Given the description of an element on the screen output the (x, y) to click on. 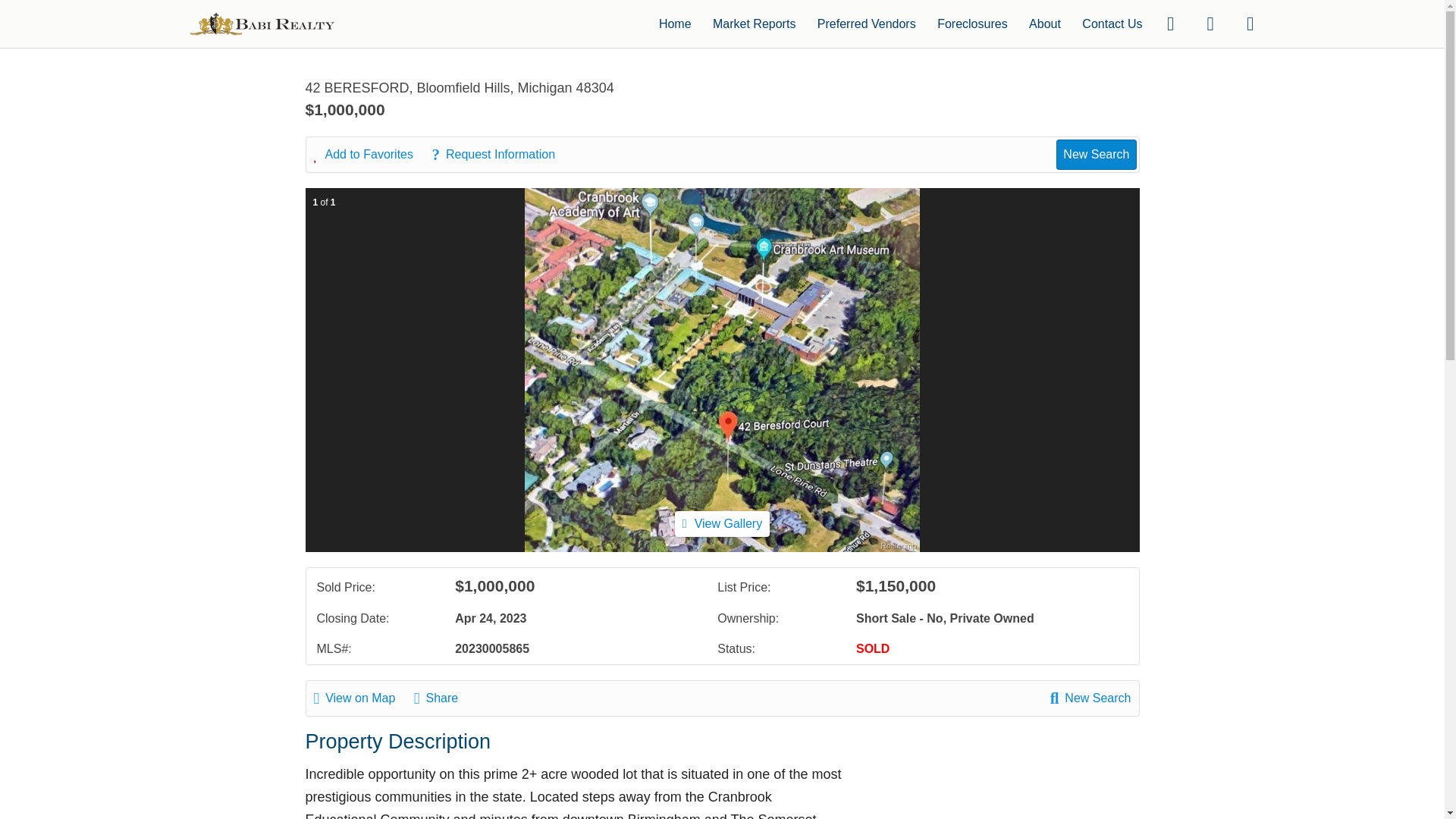
View Gallery (722, 524)
Foreclosures (972, 23)
Contact by Phone (1209, 22)
Home (675, 23)
New Search (1096, 154)
View on Map (362, 698)
Open contact form (1170, 22)
Share (443, 698)
New Search (1090, 698)
Preferred Vendors (865, 23)
Add to Favorites (371, 154)
Login or Signup (1249, 22)
Market Reports (753, 23)
About (1045, 23)
Request Information (500, 154)
